Given the description of an element on the screen output the (x, y) to click on. 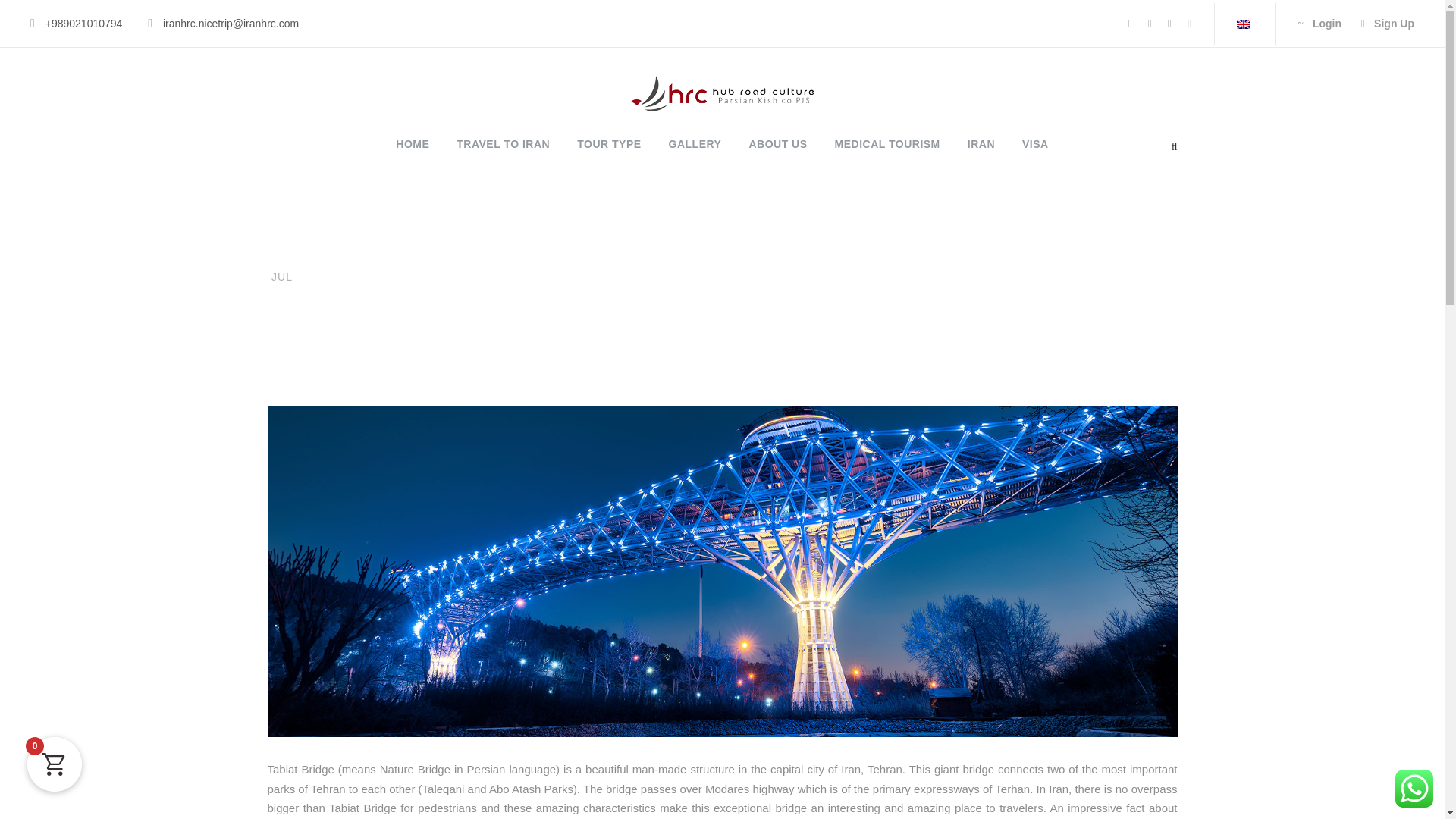
Untitled-1 (721, 93)
